Given the description of an element on the screen output the (x, y) to click on. 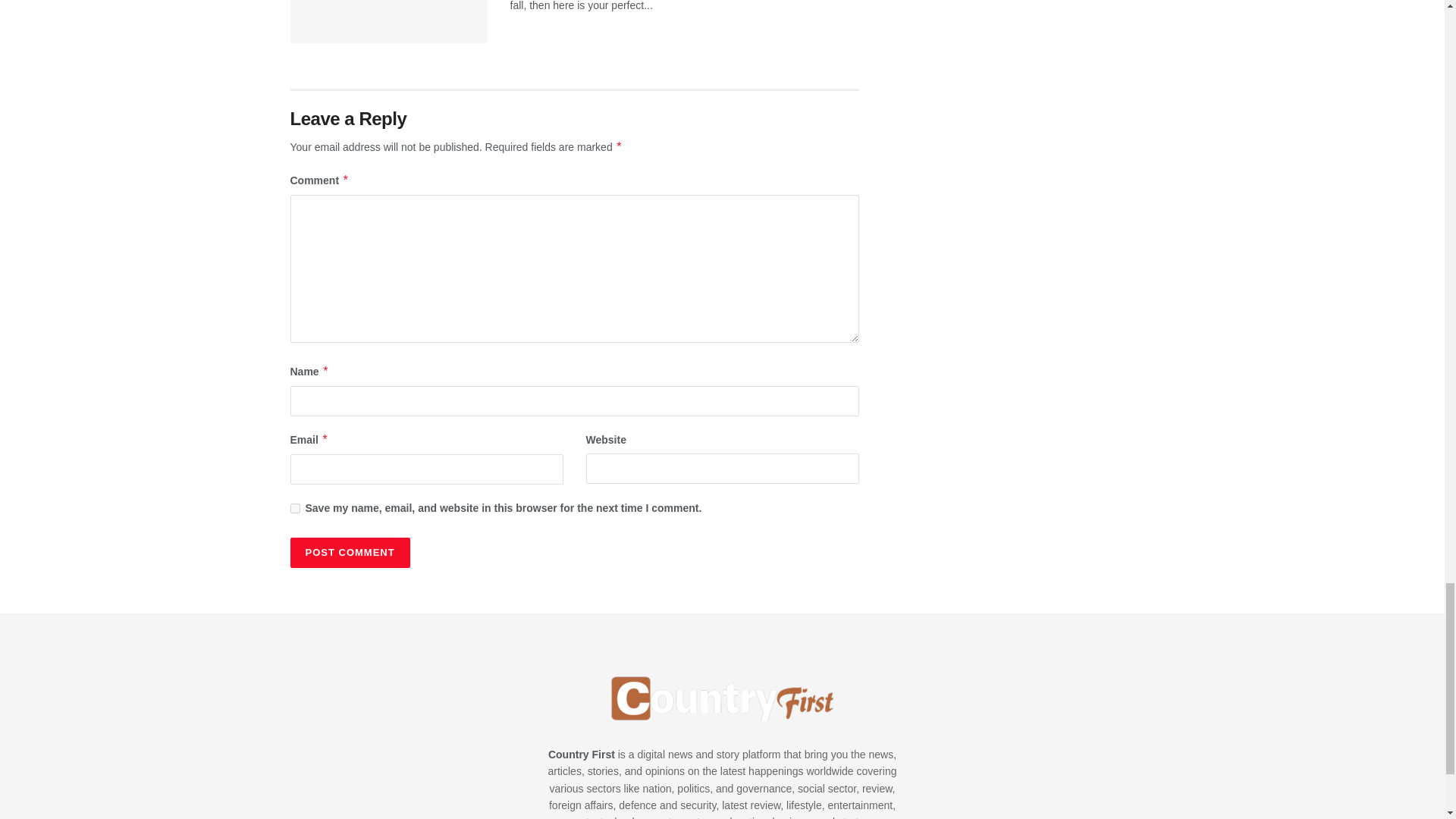
Post Comment (349, 552)
yes (294, 508)
